Given the description of an element on the screen output the (x, y) to click on. 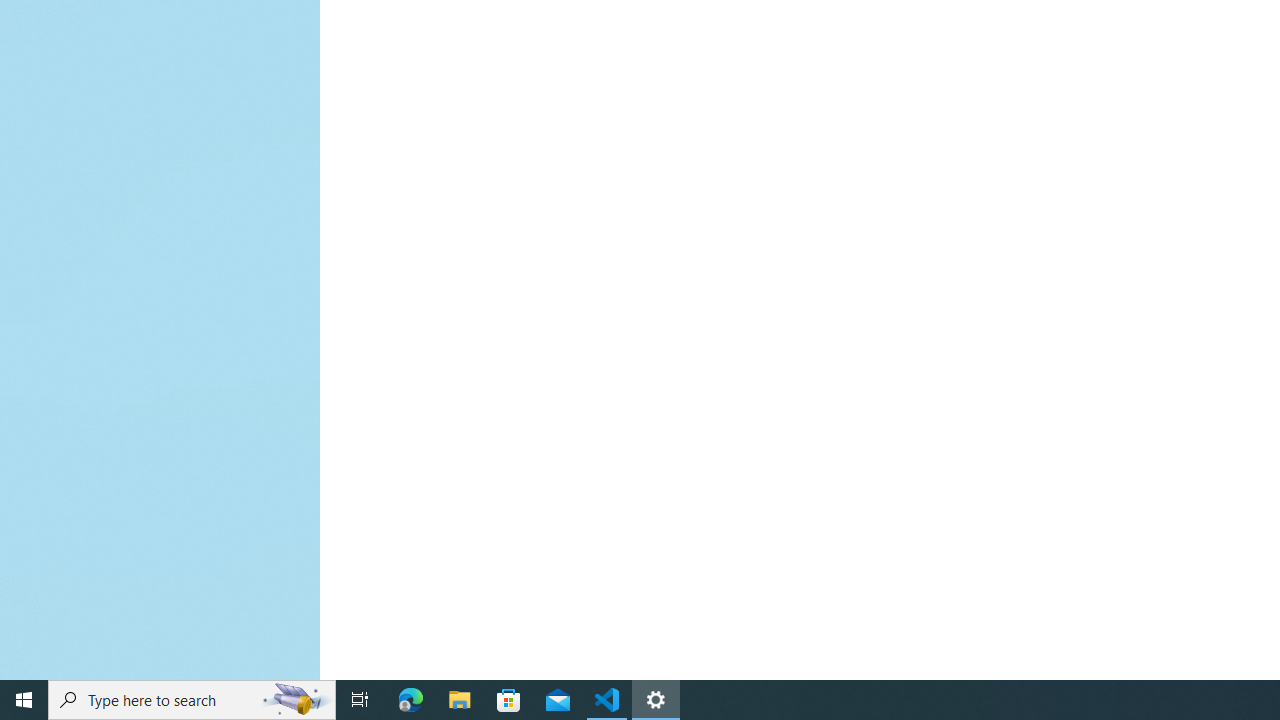
Microsoft Store (509, 699)
Search highlights icon opens search home window (295, 699)
File Explorer (460, 699)
Task View (359, 699)
Type here to search (191, 699)
Microsoft Edge (411, 699)
Visual Studio Code - 1 running window (607, 699)
Start (24, 699)
Settings - 1 running window (656, 699)
